Given the description of an element on the screen output the (x, y) to click on. 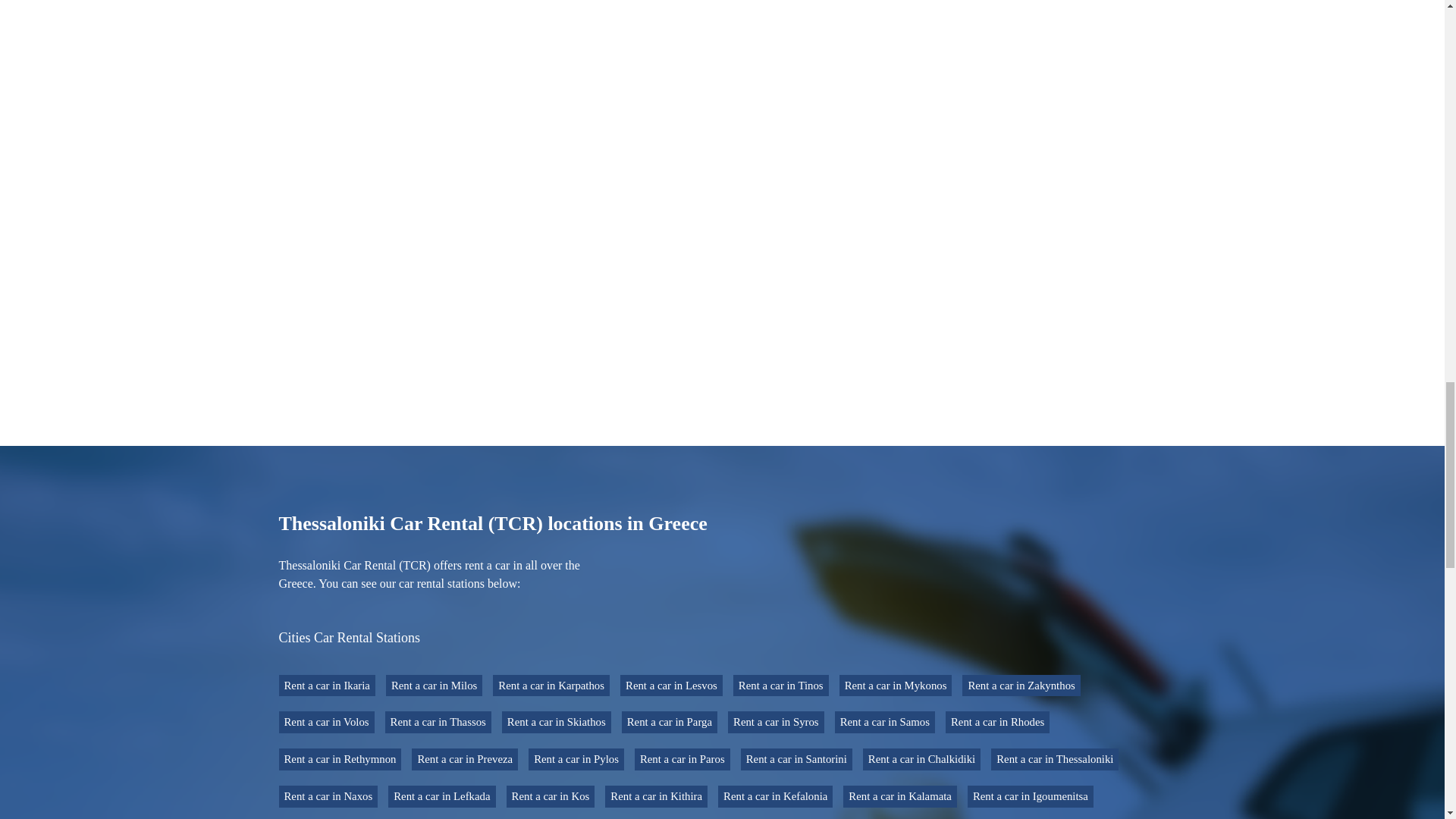
Rent a car in Skiathos (556, 722)
Rent a car in Zakynthos (1021, 685)
Rent a car in Mykonos (896, 685)
Rent a car in Rethymnon (340, 759)
Rent a car in Preveza (465, 759)
Rent a car in Thassos (438, 722)
Rent a car in Volos (326, 722)
Rent a car in Parga (669, 722)
Rent a car in Ikaria (327, 685)
Rent a car in Lesvos (671, 685)
Rent a car in Karpathos (551, 685)
Rent a car in Samos (884, 722)
Rent a car in Milos (433, 685)
Rent a car in Syros (776, 722)
Rent a car in Tinos (780, 685)
